Given the description of an element on the screen output the (x, y) to click on. 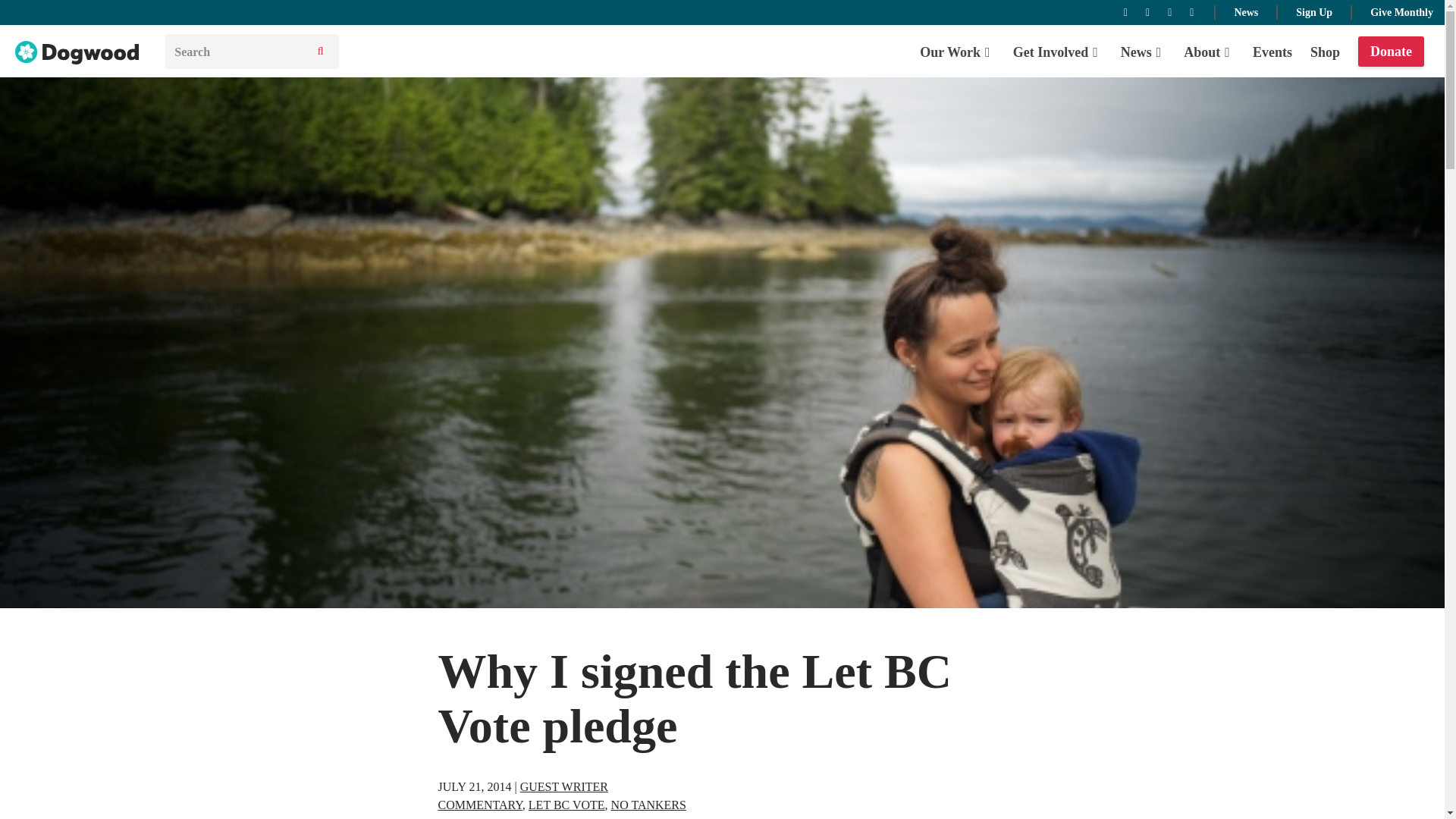
LET BC VOTE (566, 804)
Dogwood (76, 52)
Our Work (957, 51)
Search for: (234, 51)
Get Involved (1057, 51)
Shop (1324, 51)
GUEST WRITER (563, 786)
Donate (1391, 51)
Events (1272, 51)
Give Monthly (1401, 11)
